Given the description of an element on the screen output the (x, y) to click on. 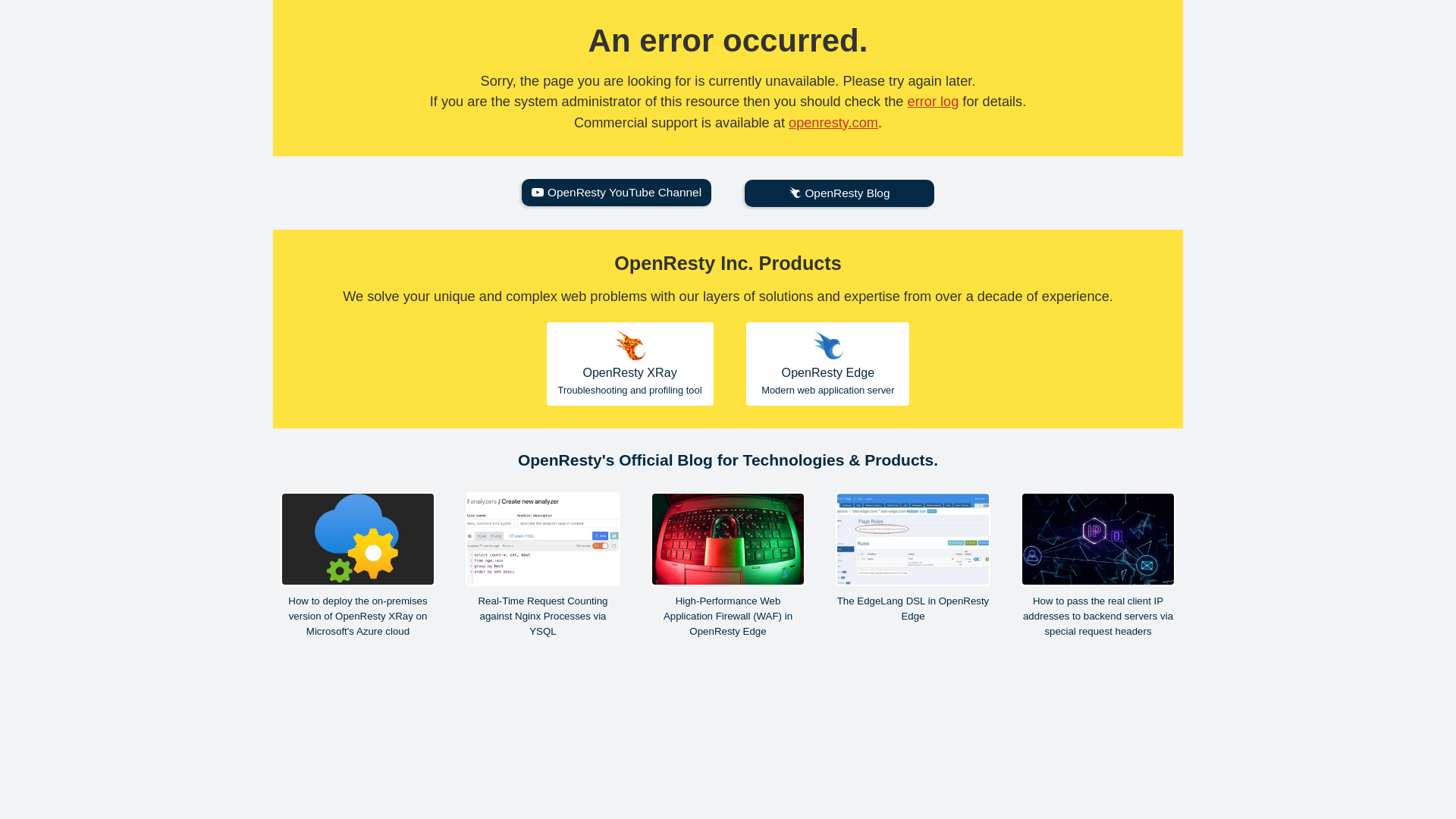
OpenResty YouTube Channel (616, 192)
error log (933, 101)
Real-Time Request Counting against Nginx Processes via YSQL (542, 565)
OpenResty Blog (839, 193)
The EdgeLang DSL in OpenResty Edge (826, 363)
openresty.com (912, 558)
